Given the description of an element on the screen output the (x, y) to click on. 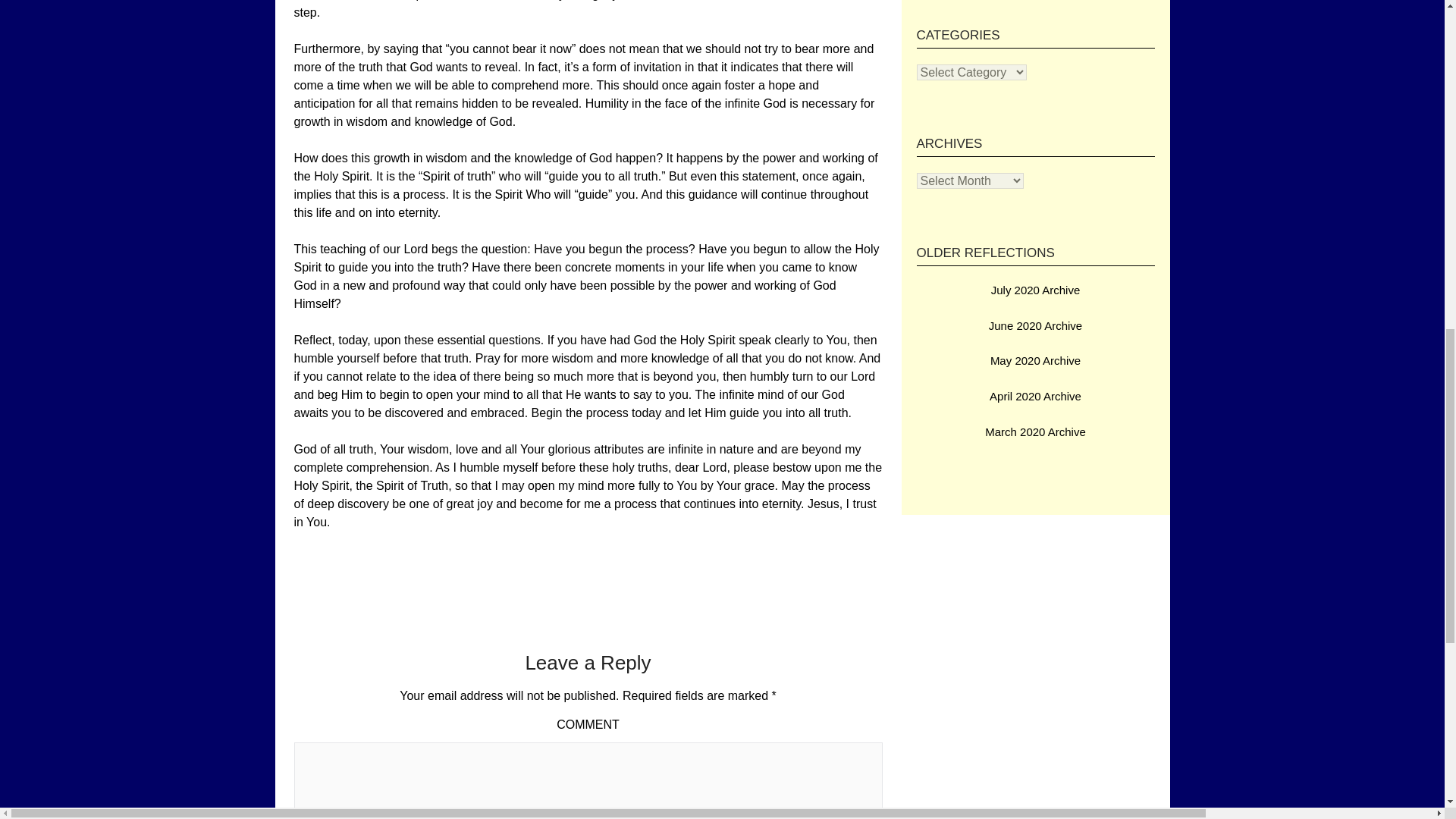
July 2020 Archive (1035, 289)
April 2020 Archive (1035, 395)
March 2020 Archive (1035, 431)
June 2020 Archive (1034, 324)
May 2020 Archive (1035, 359)
